Given the description of an element on the screen output the (x, y) to click on. 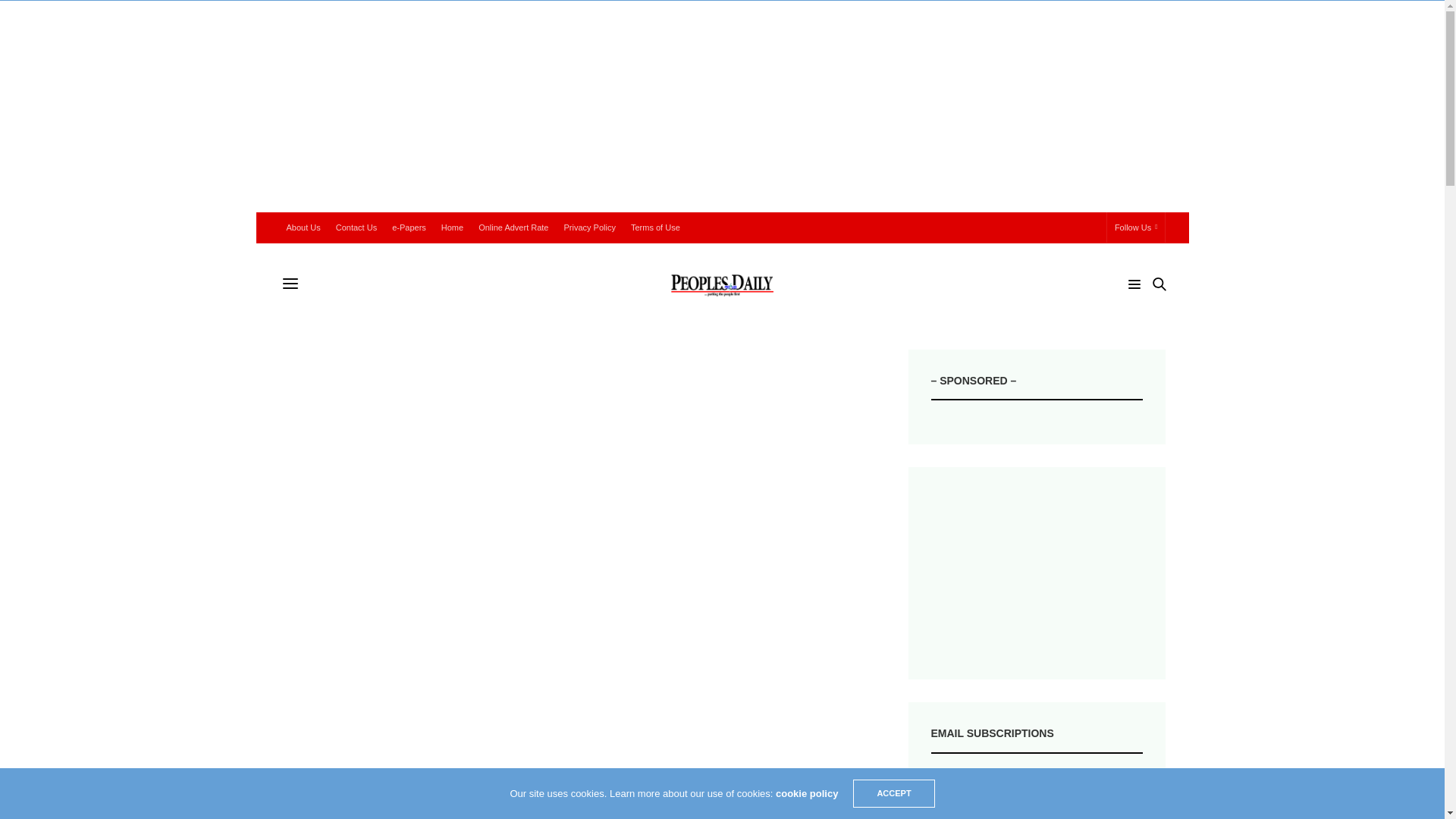
Follow Us (1136, 227)
Terms of Use (655, 227)
e-Papers (408, 227)
About Us (304, 227)
Search (1137, 312)
Online Advert Rate (513, 227)
Privacy Policy (589, 227)
Home (451, 227)
Advertisement (1037, 572)
Contact Us (356, 227)
Advertisement (571, 692)
